Given the description of an element on the screen output the (x, y) to click on. 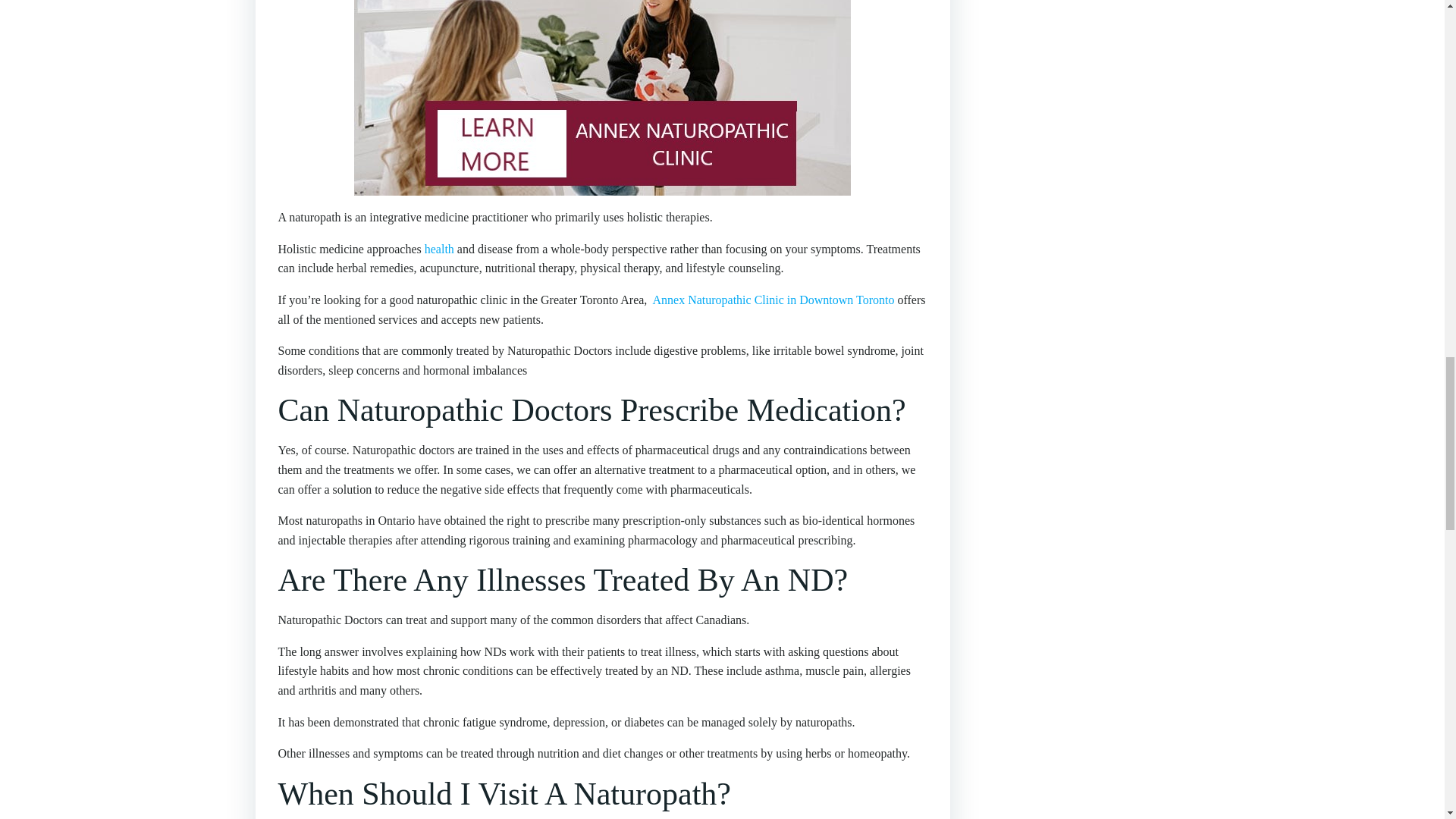
health (439, 248)
Annex Naturopathic Clinic in Downtown Toronto (772, 299)
